Given the description of an element on the screen output the (x, y) to click on. 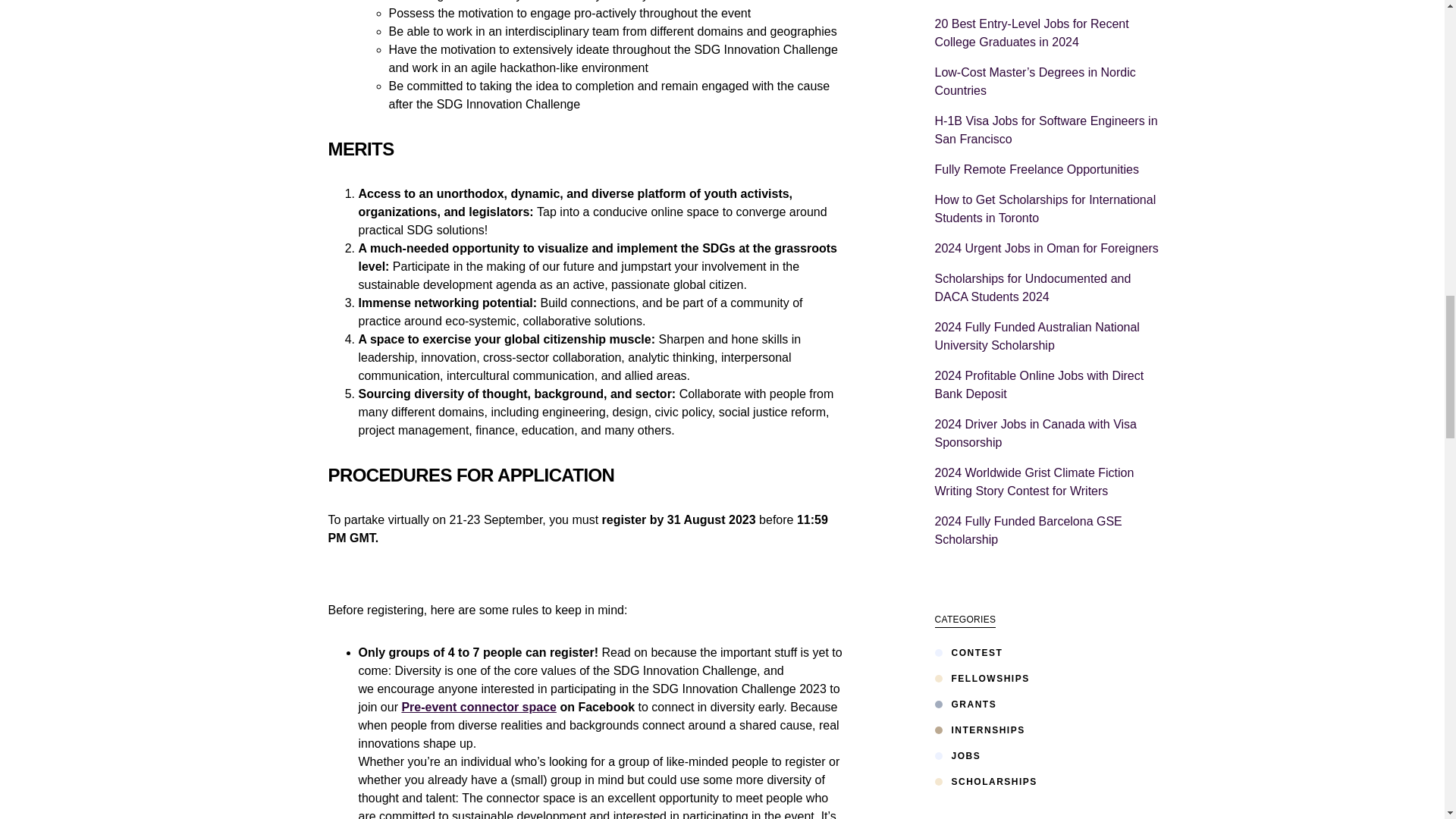
Pre-event connector space (478, 707)
